Given the description of an element on the screen output the (x, y) to click on. 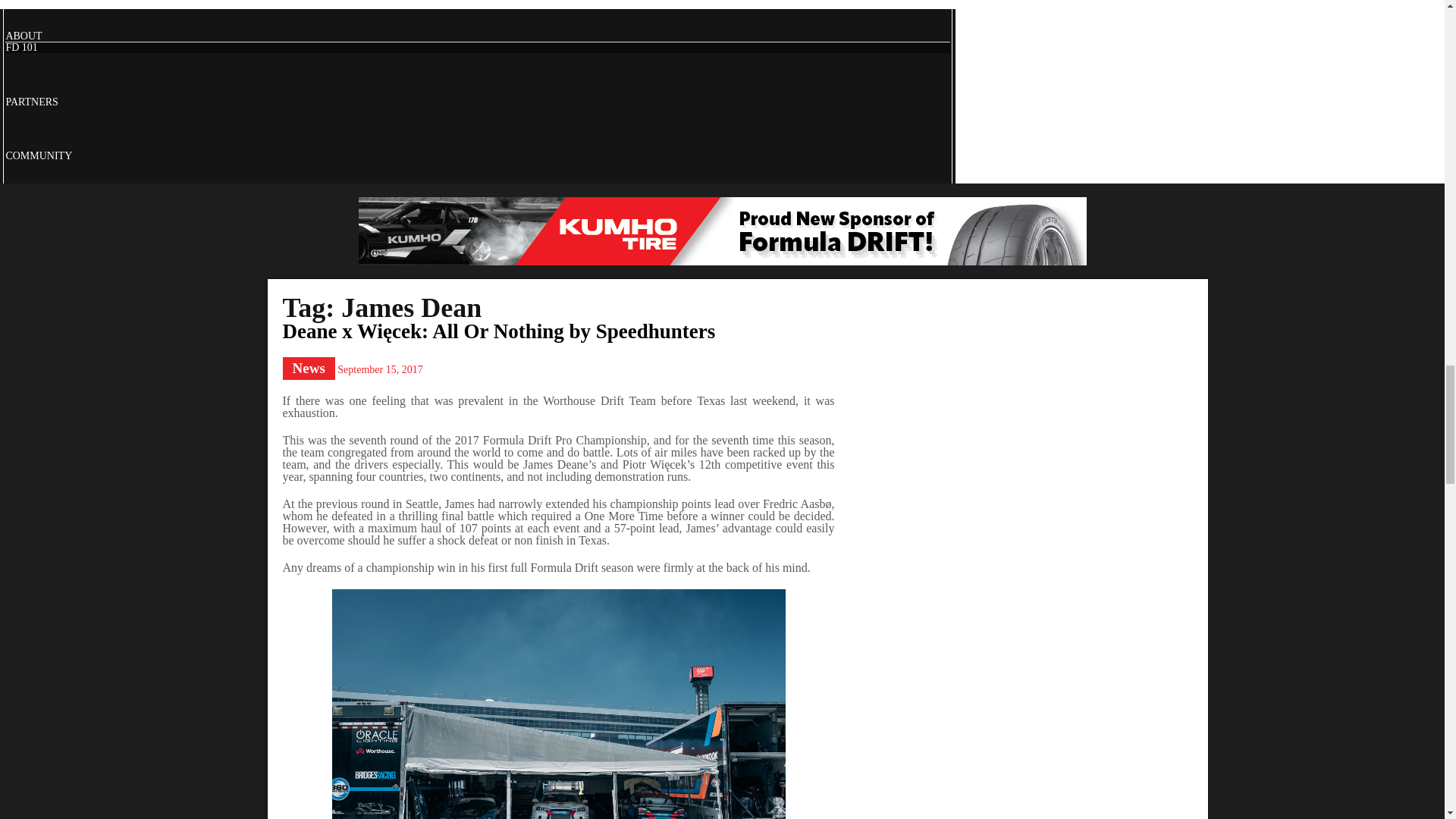
FD 101 (21, 47)
COMMUNITY (38, 155)
PARTNERS (31, 101)
ABOUT (23, 35)
